Given the description of an element on the screen output the (x, y) to click on. 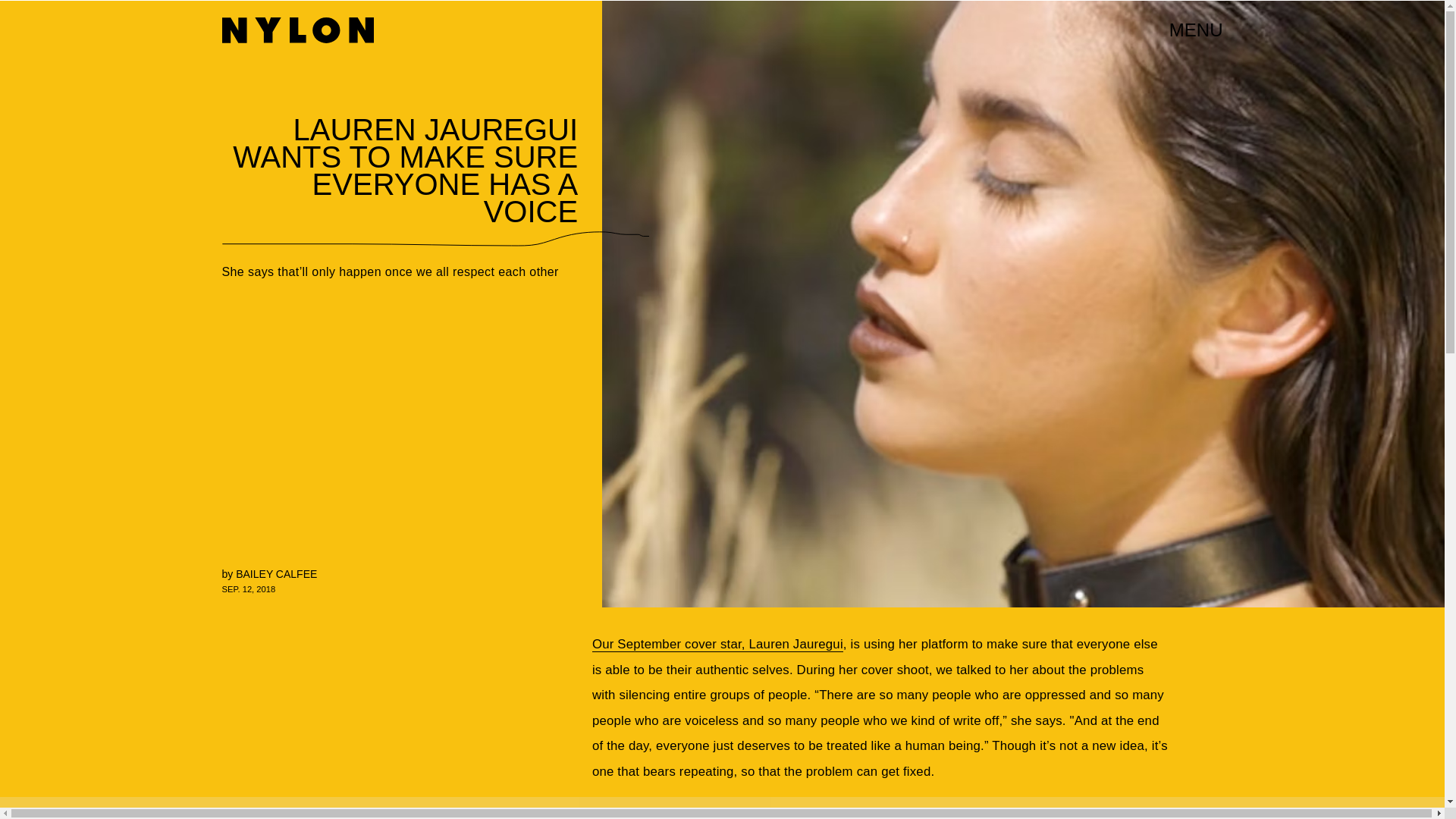
Our September cover star, Lauren Jauregui (717, 644)
BAILEY CALFEE (276, 573)
Nylon (296, 30)
